Given the description of an element on the screen output the (x, y) to click on. 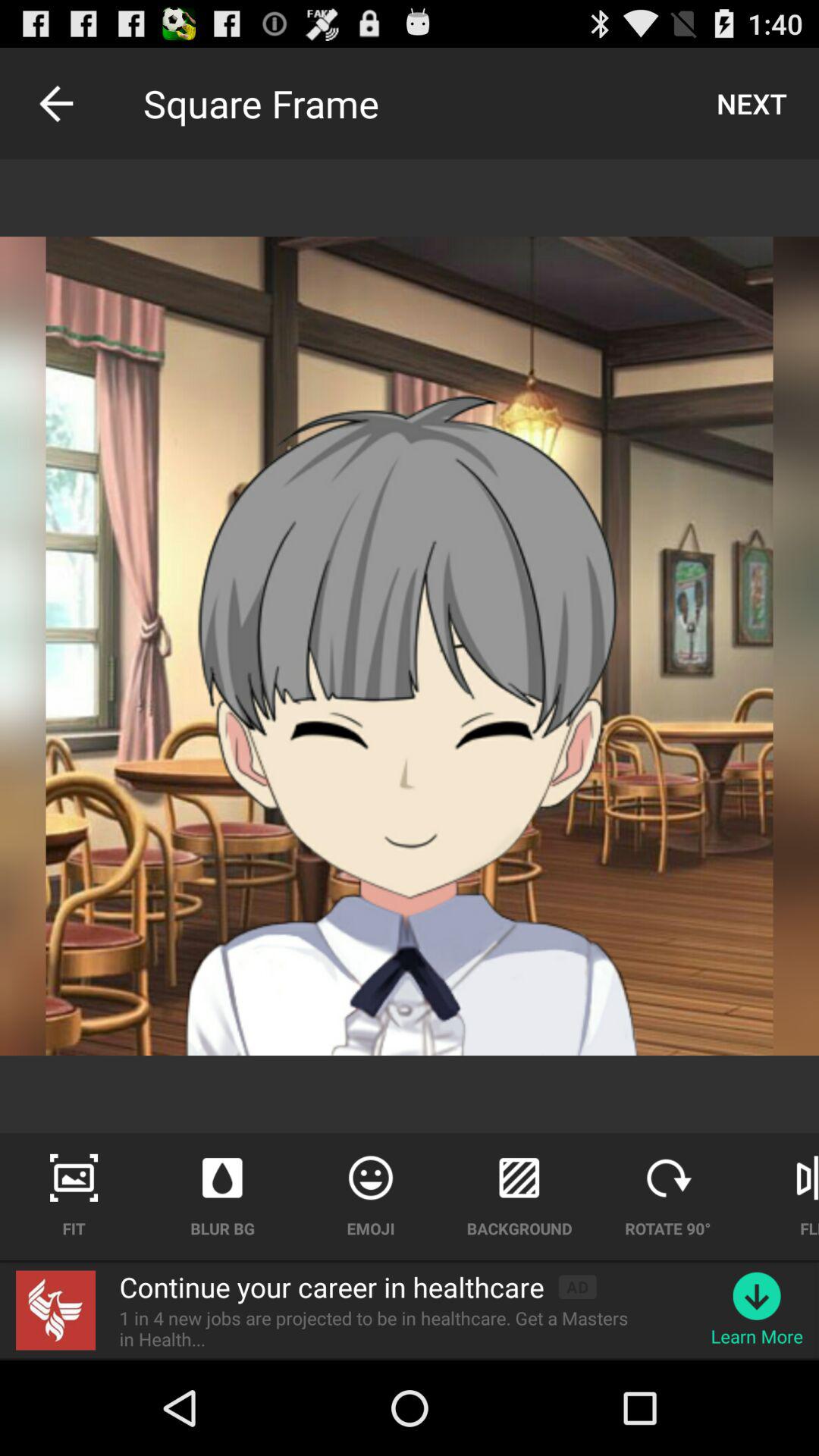
flip until learn more icon (756, 1336)
